Given the description of an element on the screen output the (x, y) to click on. 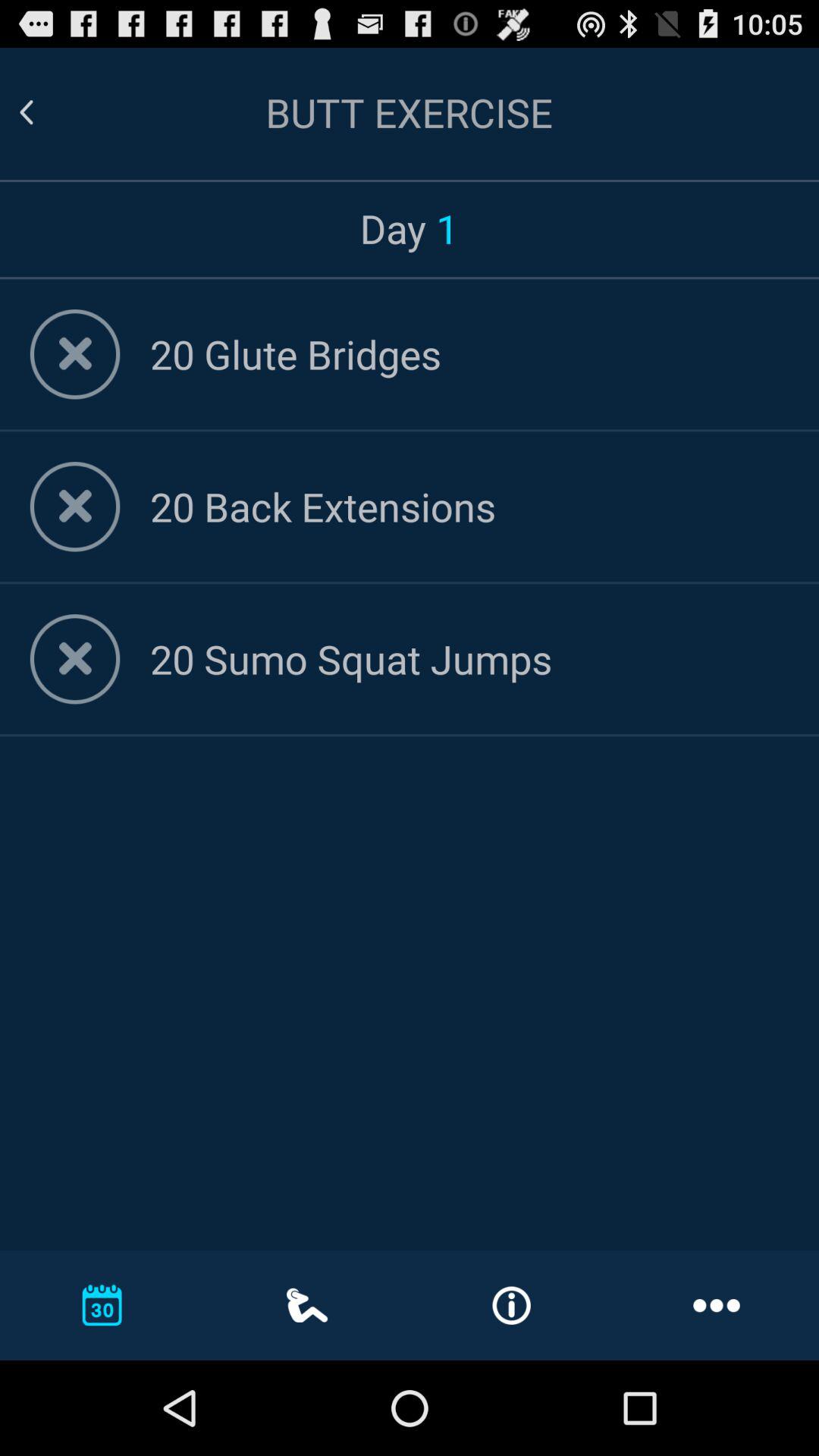
select icon below the 20 back extensions item (469, 658)
